Given the description of an element on the screen output the (x, y) to click on. 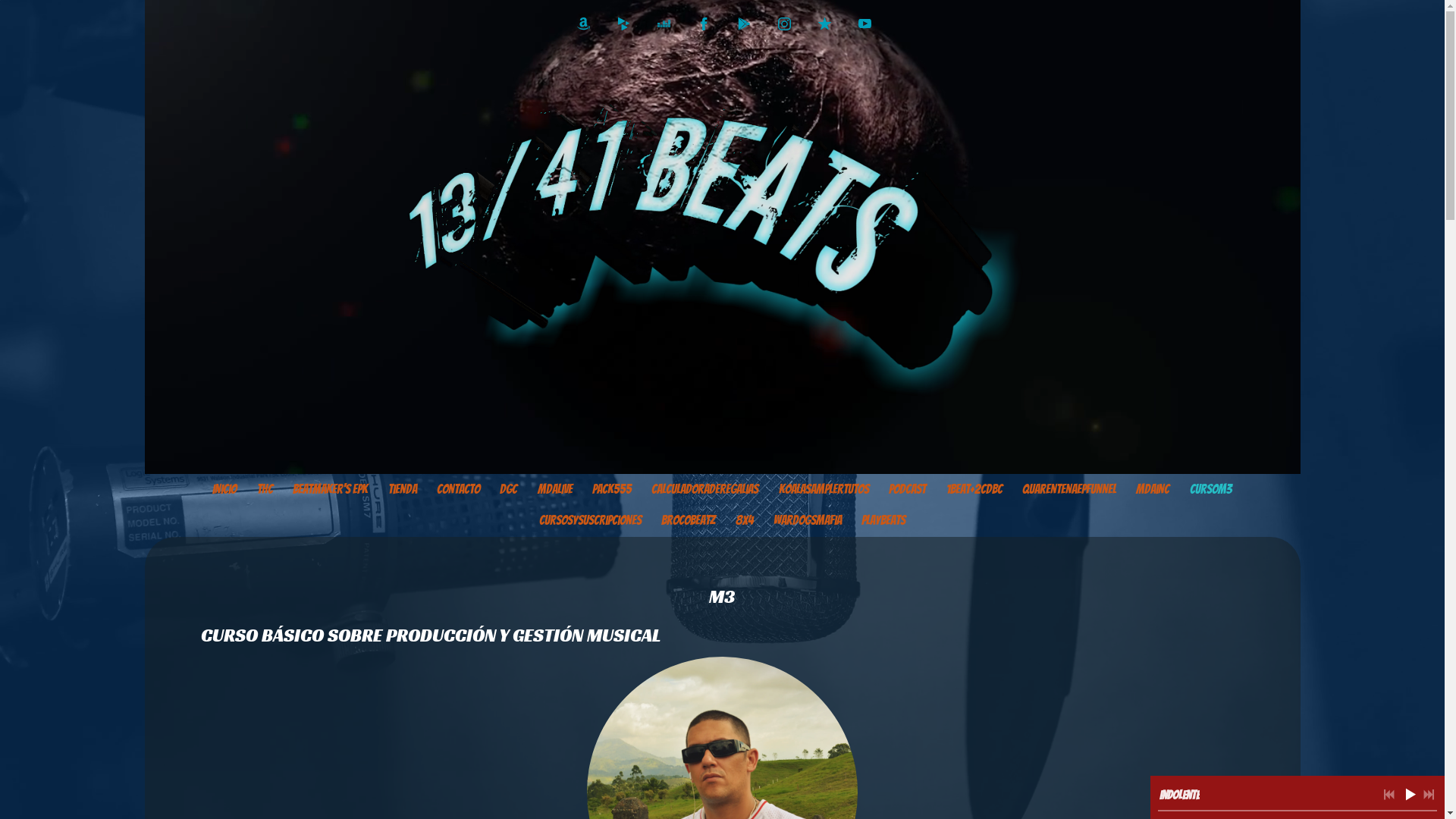
Inicio Element type: text (224, 489)
calculadoraderegalias Element type: text (704, 489)
DGC Element type: text (508, 489)
https://itunes.apple.com/us/album/3-zkillzz/1135533616 Element type: hover (823, 23)
PlayBeats Element type: text (883, 520)
Cursosysuscripciones Element type: text (590, 520)
BrocoBeatz Element type: text (687, 520)
KoalaSamplerTutos Element type: text (823, 489)
thc Element type: text (264, 489)
PODCAST Element type: text (906, 489)
https://www.facebook.com/Kabster1341 Element type: hover (703, 23)
CursoM3 Element type: text (1210, 489)
https://www.youtube.com/Kabster1341 Element type: hover (864, 23)
WarDogsMafia Element type: text (807, 520)
8X4 Element type: text (743, 520)
https://store.cdbaby.com/cd/kabster Element type: hover (623, 23)
PACK555 Element type: text (611, 489)
1Beat+2CDBC Element type: text (973, 489)
http://www.deezer.com/es/album/12761988 Element type: hover (662, 23)
http://instagram.com/kabstermda Element type: hover (784, 23)
MDALIVE Element type: text (554, 489)
MDAinc Element type: text (1152, 489)
Beatmaker's EPK Element type: text (329, 489)
Reproducir Element type: hover (1409, 793)
QuarentenaEPfunnel Element type: text (1069, 489)
Tienda Element type: text (401, 489)
Contacto Element type: text (457, 489)
